Given the description of an element on the screen output the (x, y) to click on. 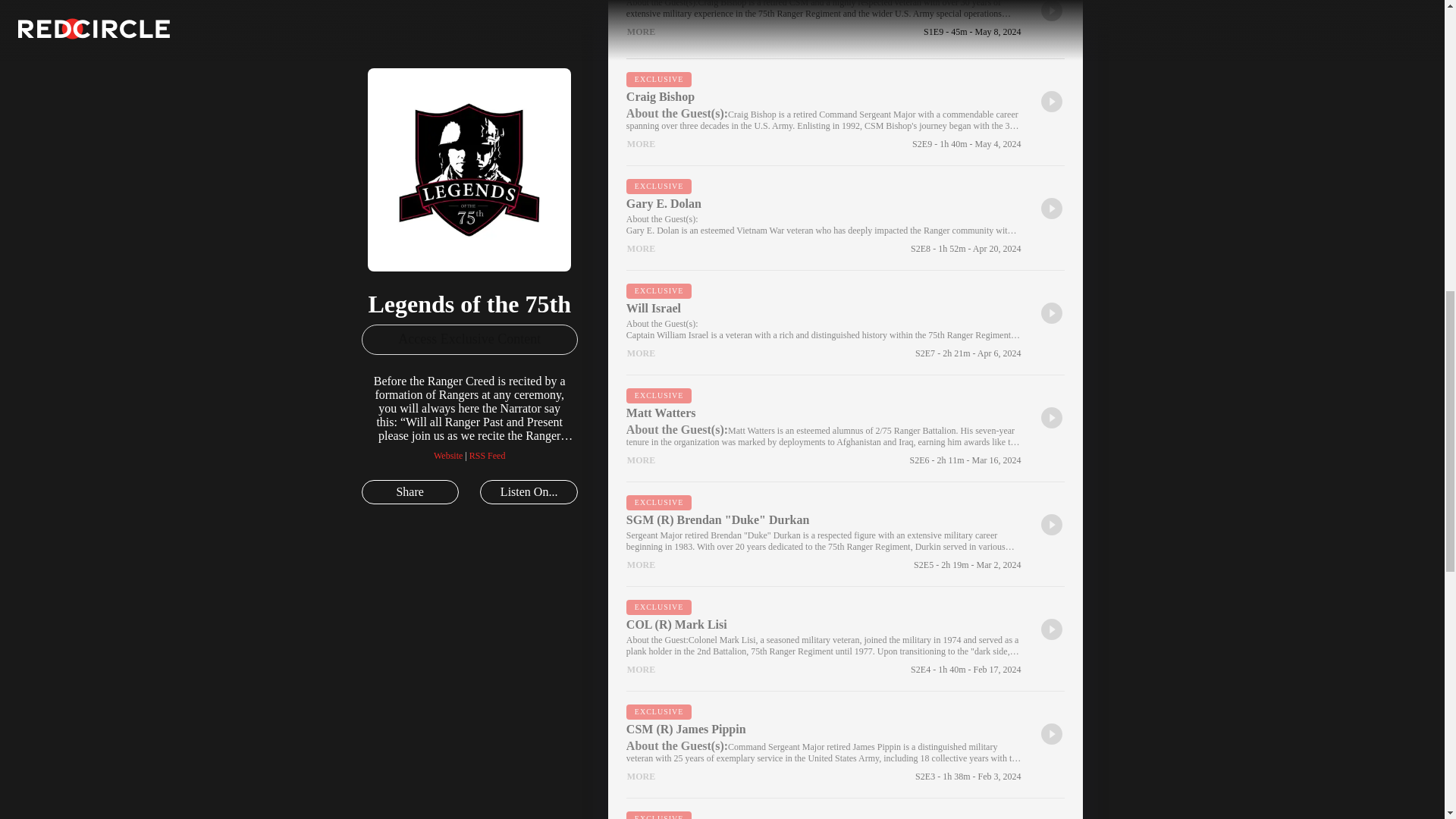
Craig Bishop (824, 97)
Legends of the 75th (457, 109)
MORE (641, 31)
